Given the description of an element on the screen output the (x, y) to click on. 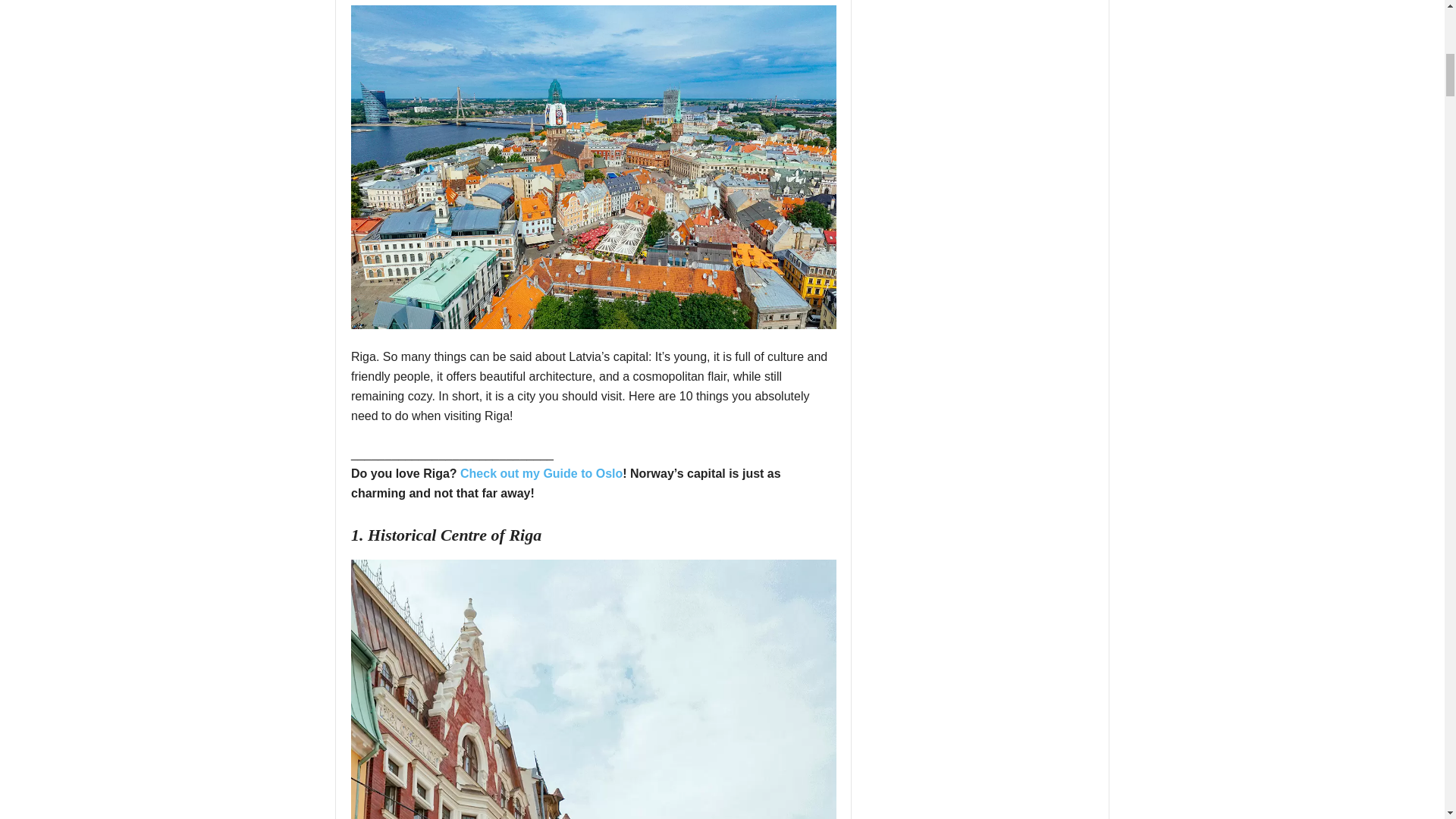
Check out my Guide to Oslo (541, 472)
